Given the description of an element on the screen output the (x, y) to click on. 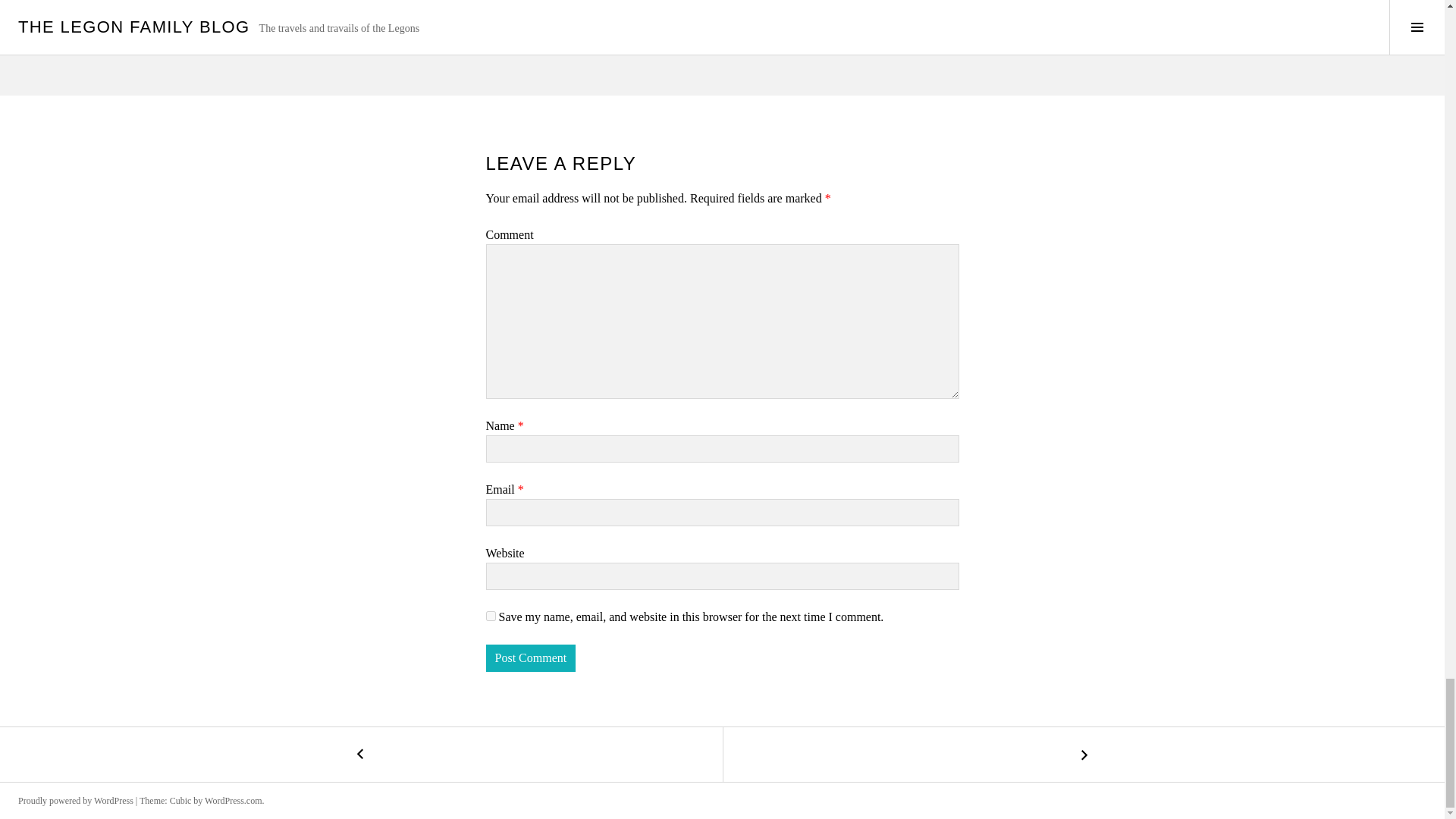
 Day 3: Into Jordan (361, 754)
Post Comment (529, 657)
Post Comment (529, 657)
Reply (515, 31)
yes (489, 615)
